Given the description of an element on the screen output the (x, y) to click on. 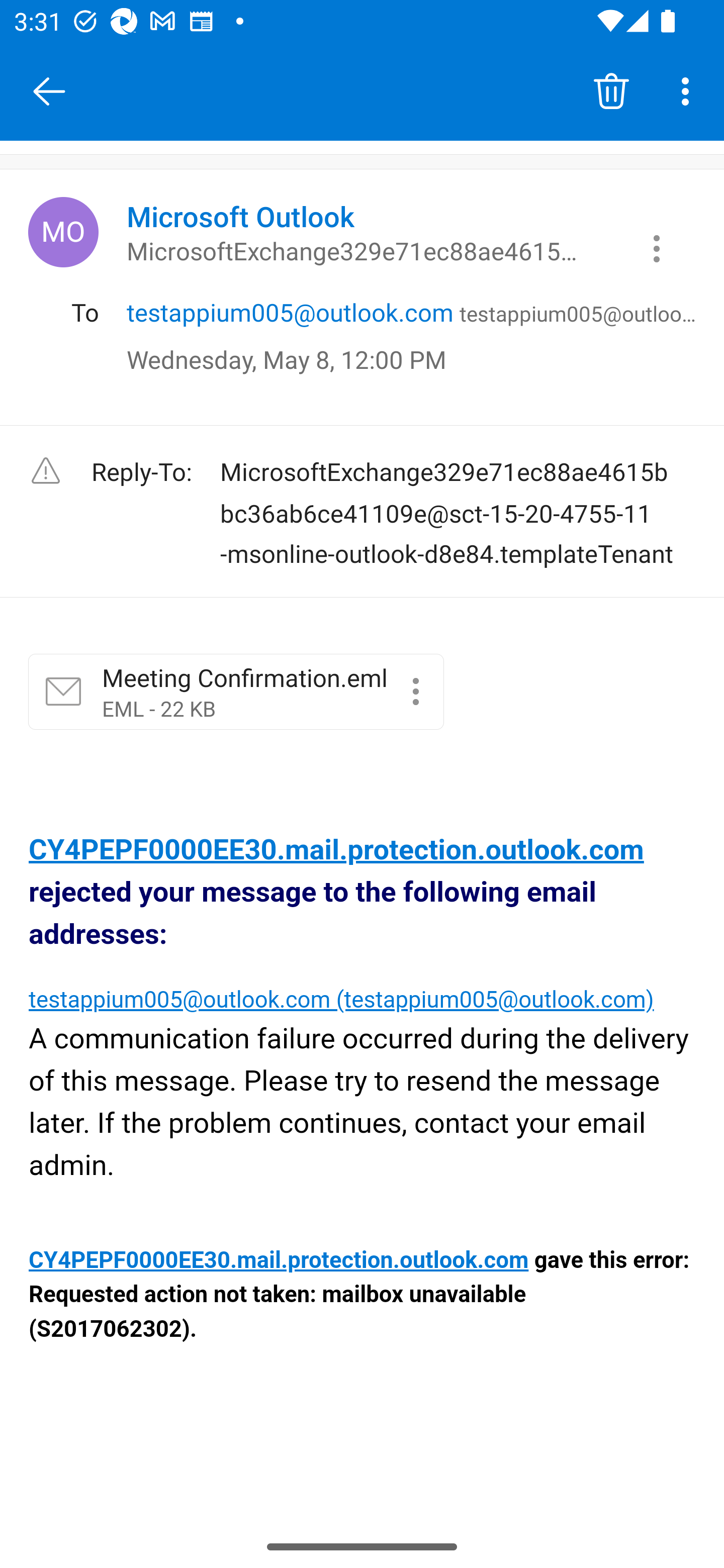
Close (49, 91)
Delete (611, 90)
More options (688, 90)
Message actions (656, 248)
Meeting Confirmation.eml (415, 691)
CY4PEPF0000EE30.mail.protection.outlook.com (336, 849)
CY4PEPF0000EE30.mail.protection.outlook.com (278, 1261)
